Given the description of an element on the screen output the (x, y) to click on. 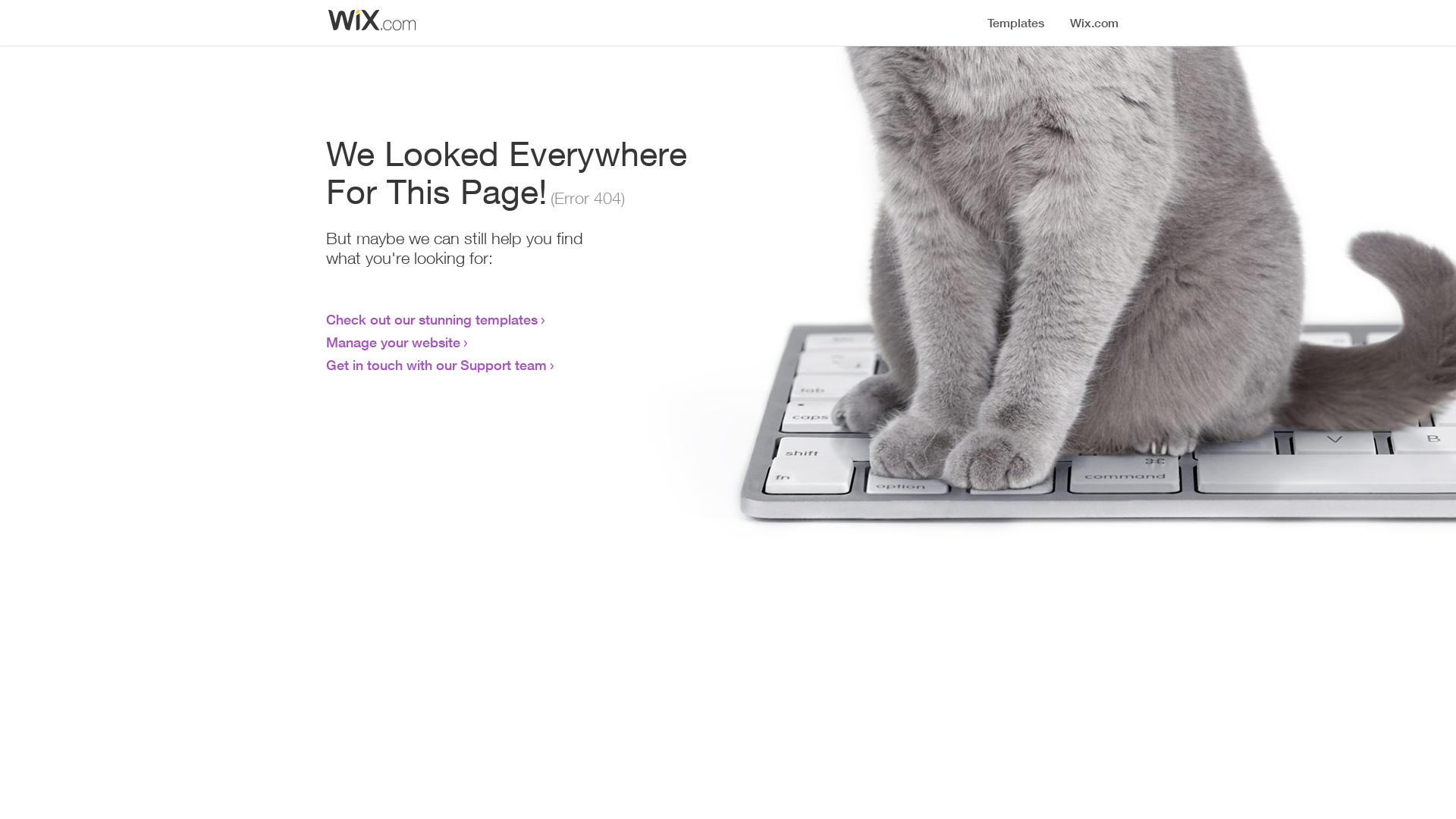
Check out our stunning templates Element type: text (431, 318)
Manage your website Element type: text (393, 341)
Get in touch with our Support team Element type: text (436, 364)
